Given the description of an element on the screen output the (x, y) to click on. 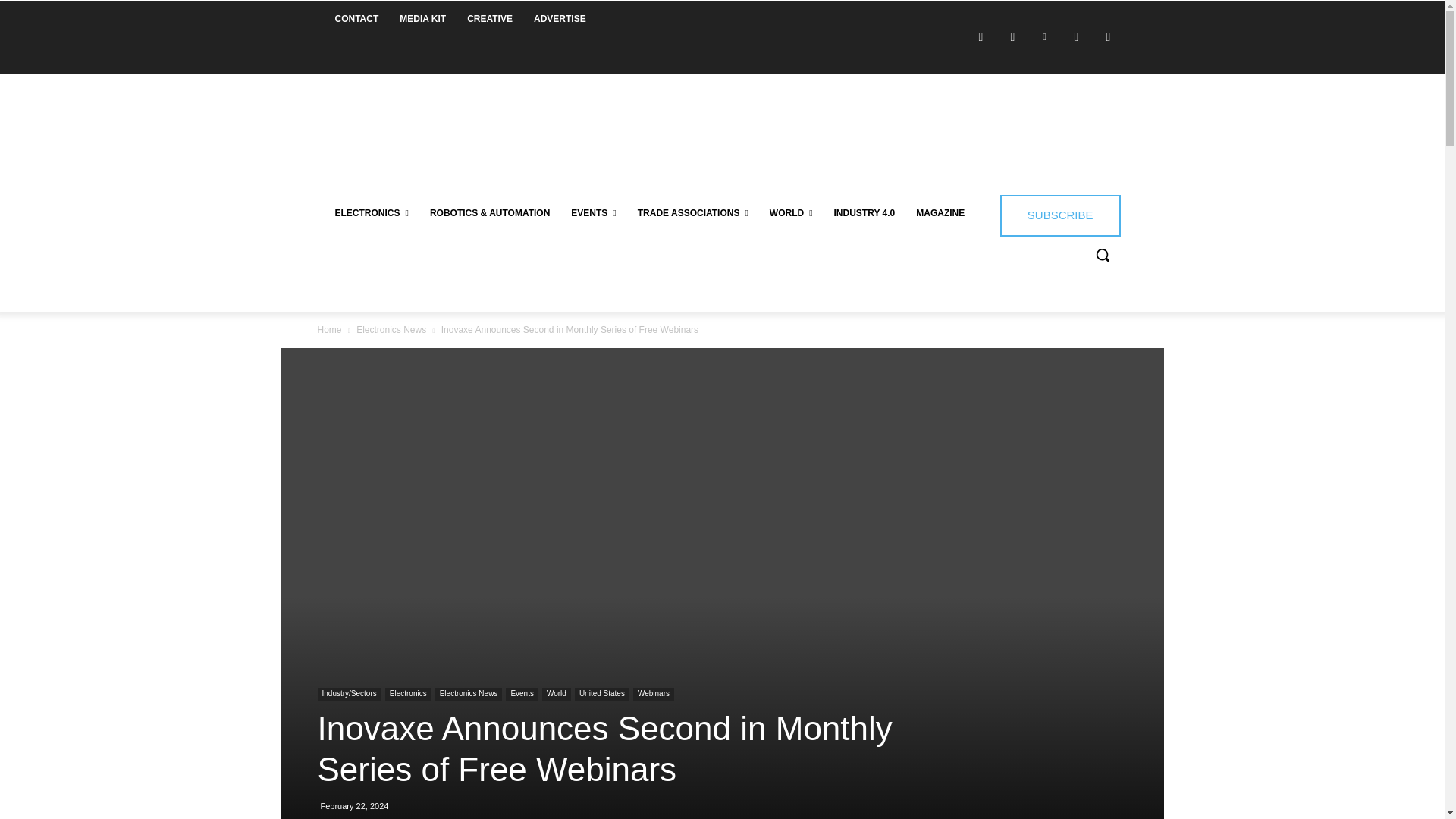
Youtube (1108, 37)
MEDIA KIT (422, 18)
Twitter (1076, 37)
SMT Today  Electronics Beyond Content (435, 123)
CONTACT (357, 18)
Facebook (980, 37)
Linkedin (1044, 37)
CREATIVE (489, 18)
Instagram (1013, 37)
SUBSCRIBE (1060, 215)
